Given the description of an element on the screen output the (x, y) to click on. 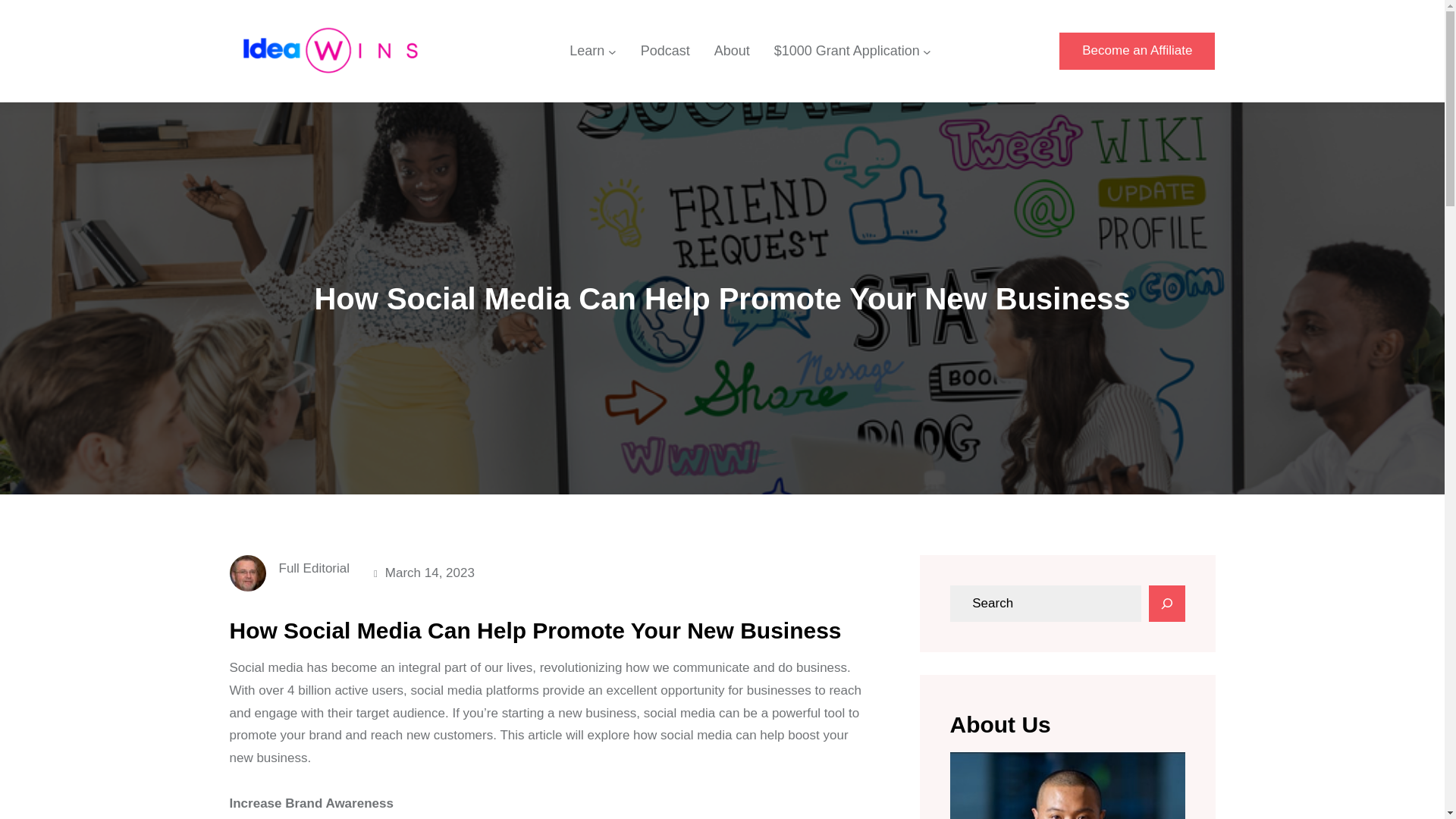
Become an Affiliate (1136, 50)
Podcast (665, 51)
Learn (586, 51)
About (731, 51)
